Given the description of an element on the screen output the (x, y) to click on. 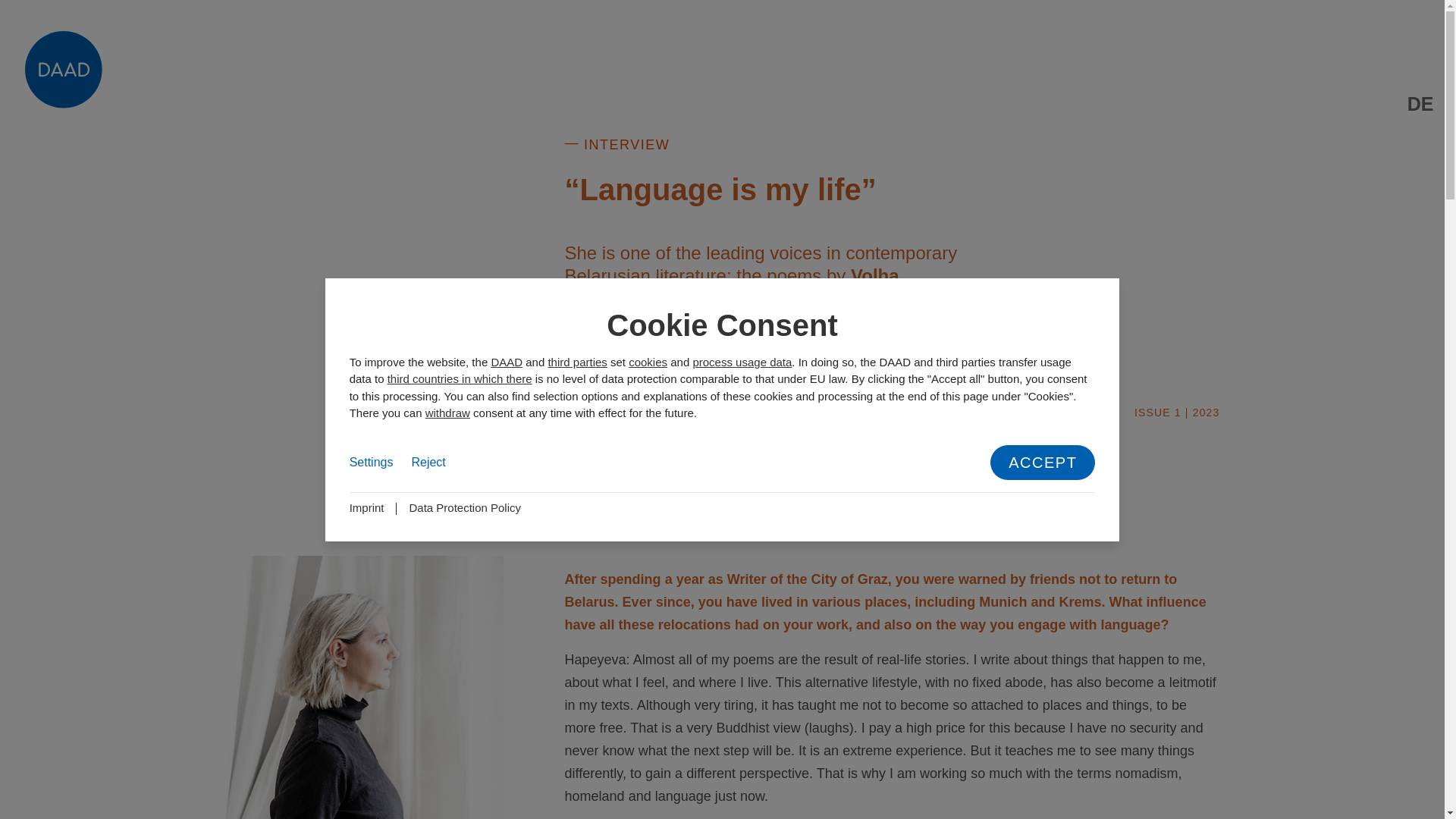
Page opens in new window (465, 506)
process usage data (742, 360)
DE (1420, 104)
Settings (371, 462)
cookies (647, 360)
Open image gallery (357, 687)
third parties (577, 360)
third countries in which there (459, 378)
Show share links (1420, 801)
withdraw (447, 412)
DAAD (506, 360)
Back to homepage (62, 103)
Page opens in new window (366, 506)
